Given the description of an element on the screen output the (x, y) to click on. 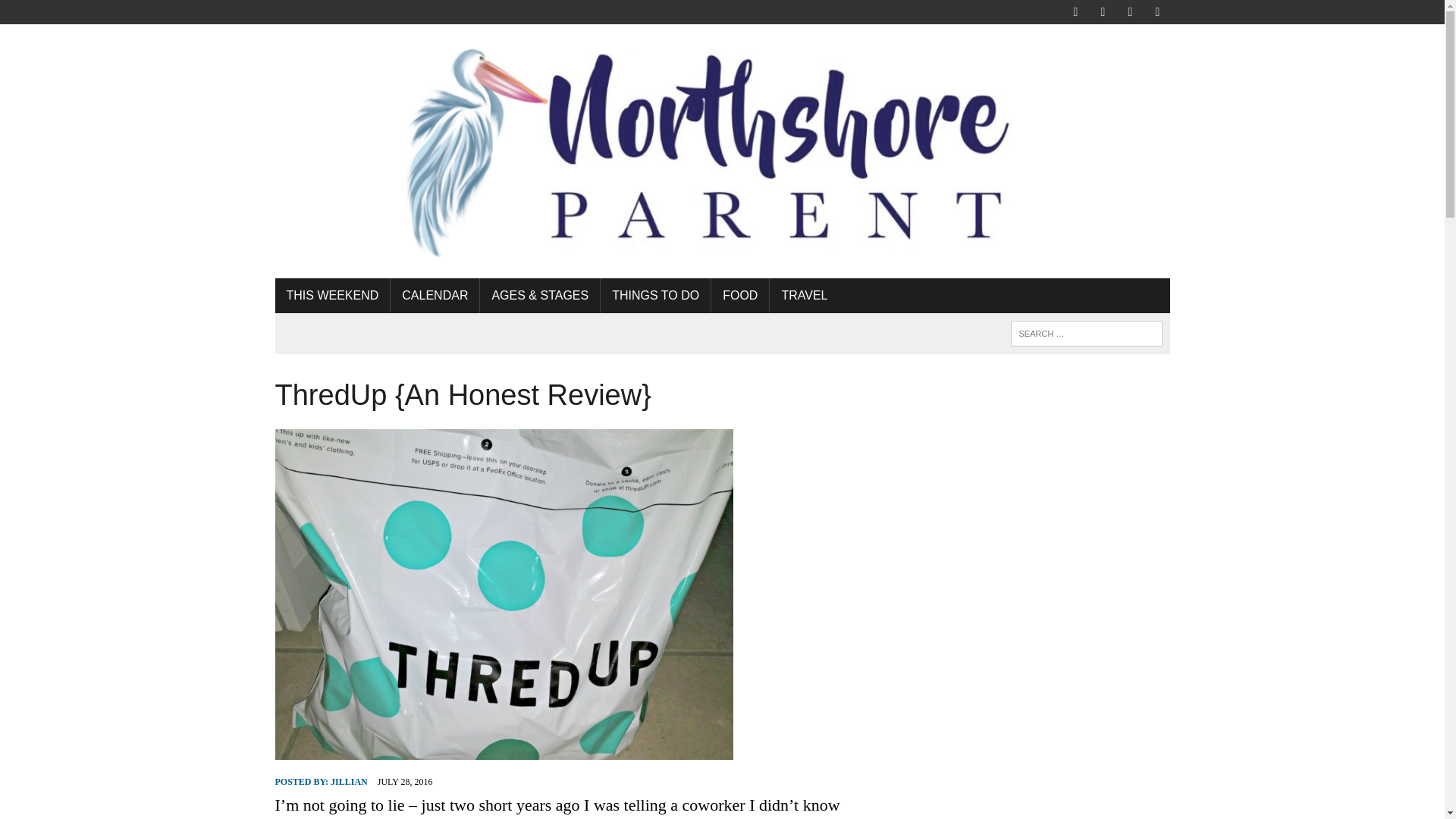
CALENDAR (434, 295)
Search (75, 14)
THINGS TO DO (654, 295)
FOOD (739, 295)
TRAVEL (804, 295)
JILLIAN (349, 781)
THIS WEEKEND (332, 295)
